Given the description of an element on the screen output the (x, y) to click on. 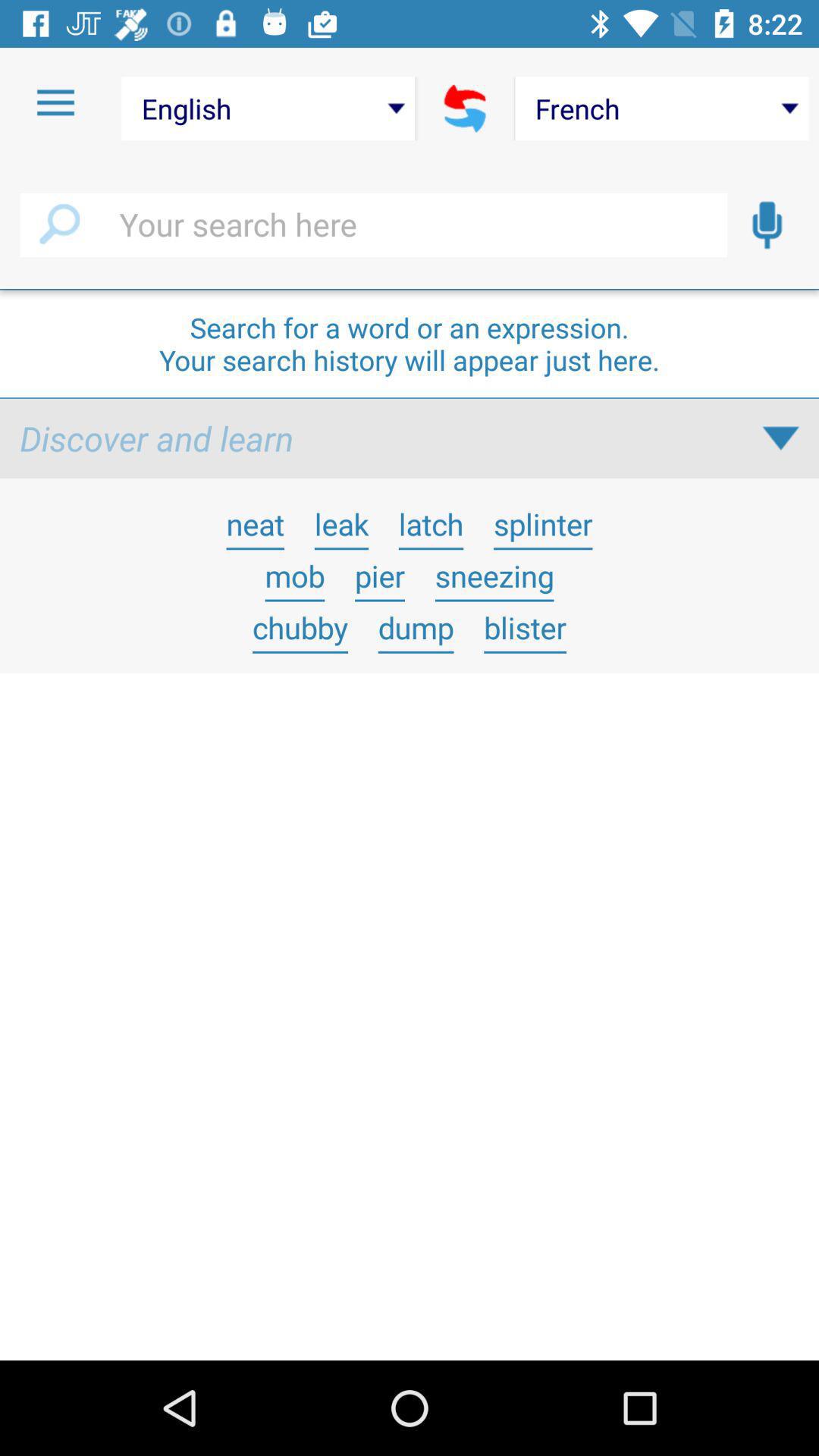
open icon to the right of the discover and learn item (780, 438)
